Given the description of an element on the screen output the (x, y) to click on. 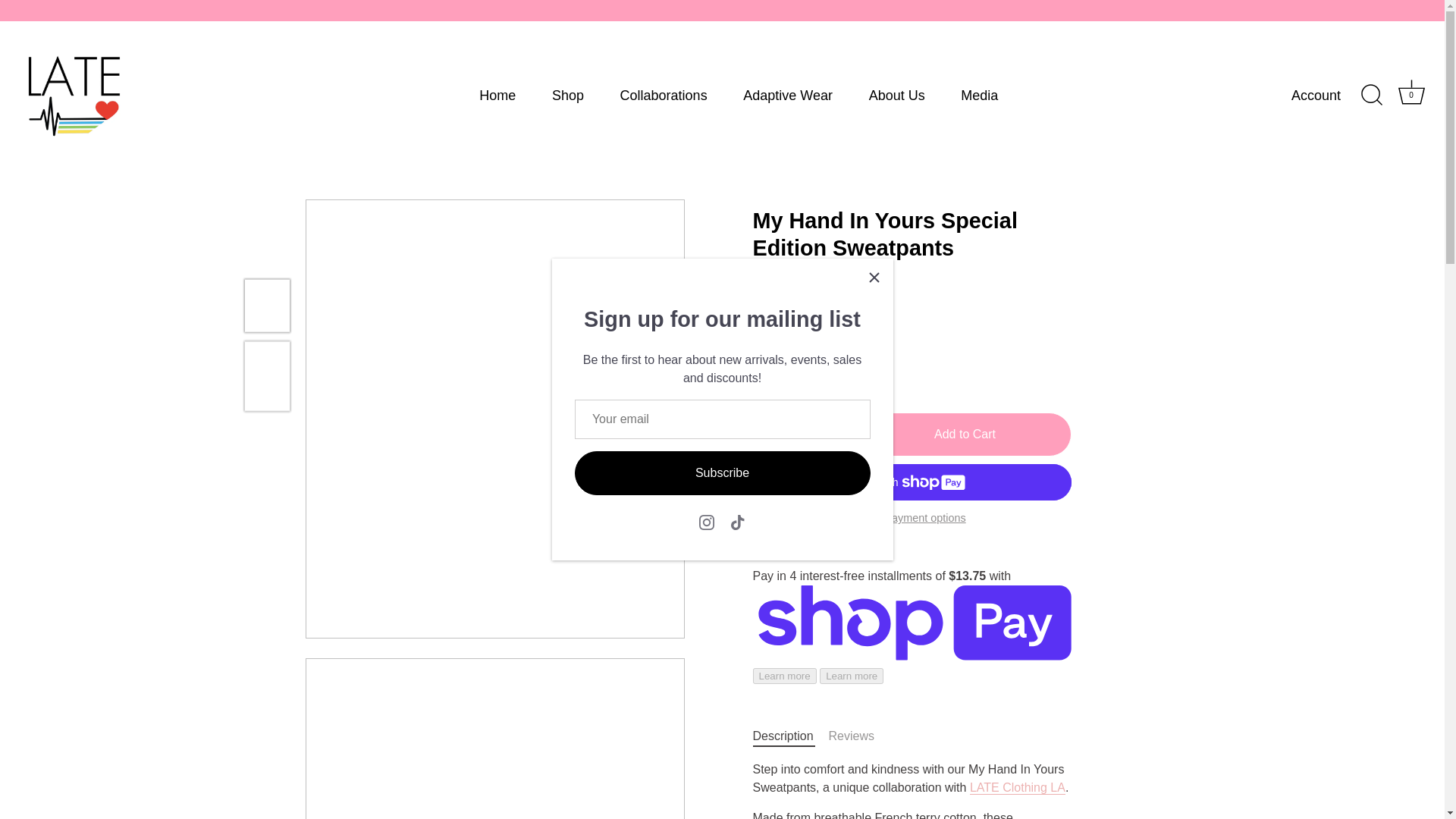
Cart (1411, 91)
Adaptive Wear (787, 94)
Account (1329, 95)
Shop (567, 94)
Home (497, 94)
Instagram (706, 522)
About Us (895, 94)
Small (1411, 95)
Media (767, 357)
Collaborations (979, 94)
